Given the description of an element on the screen output the (x, y) to click on. 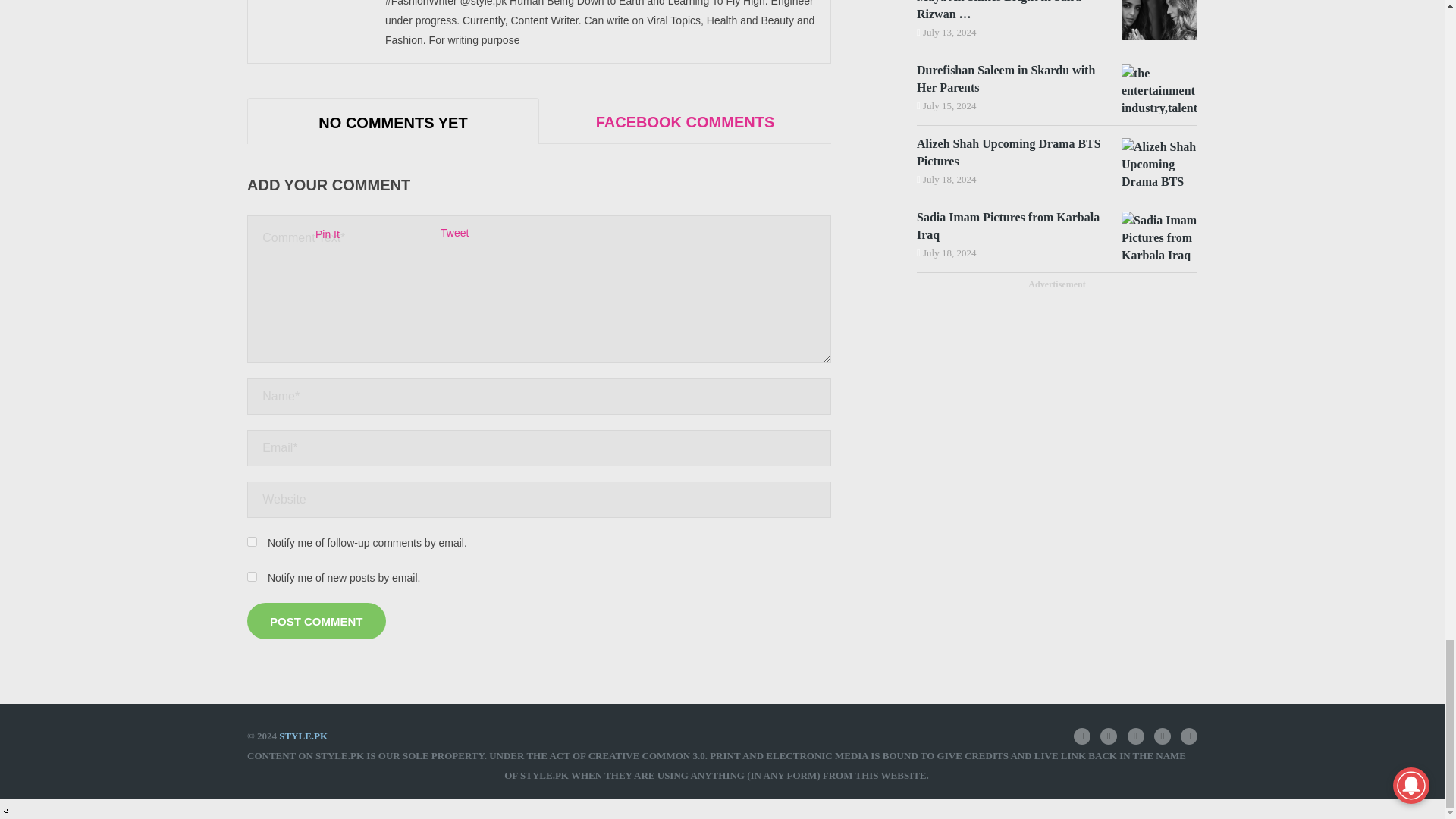
subscribe (252, 576)
Post Comment (316, 620)
subscribe (252, 542)
